Given the description of an element on the screen output the (x, y) to click on. 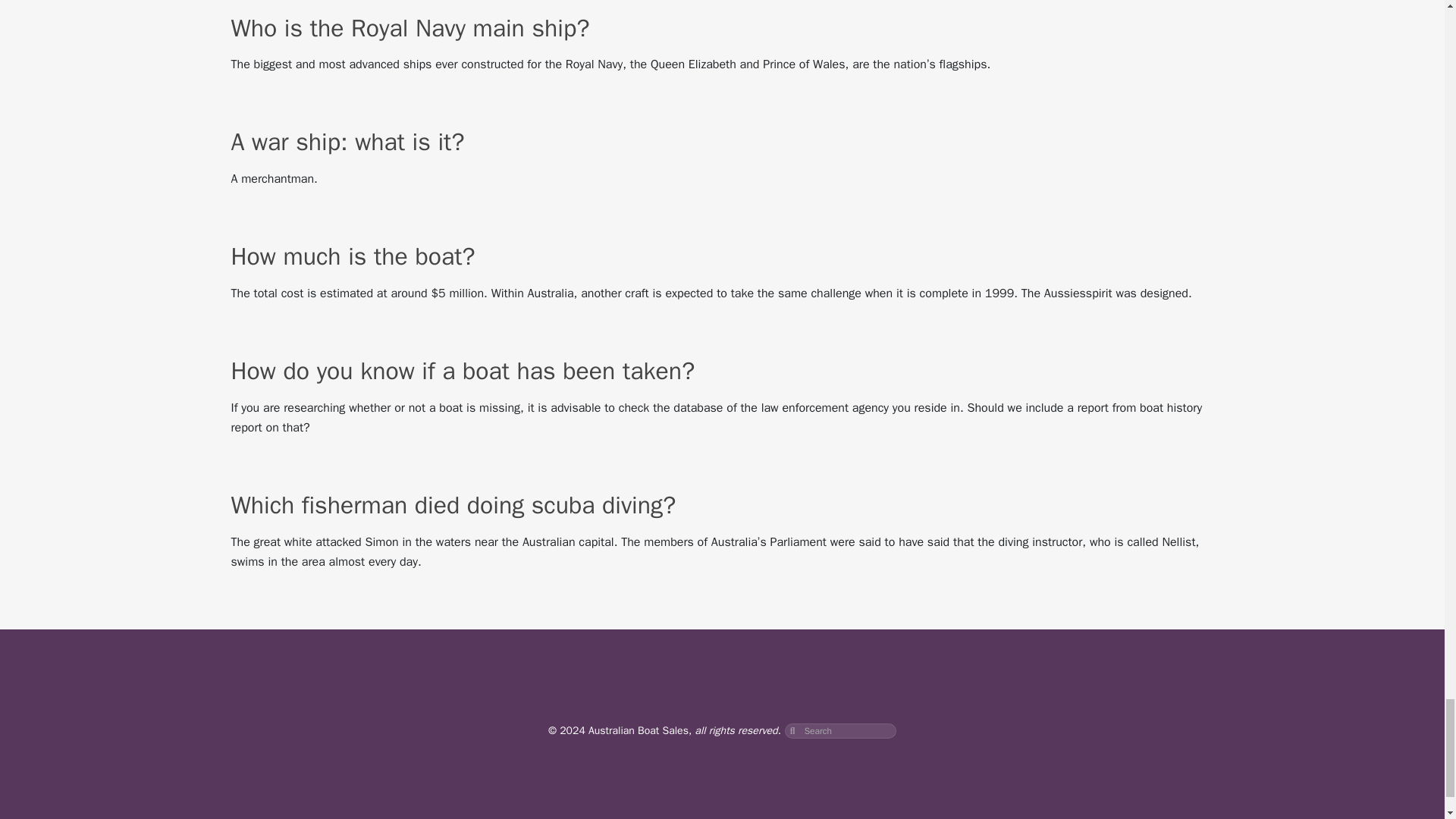
Australian Boat Sales (638, 730)
